Given the description of an element on the screen output the (x, y) to click on. 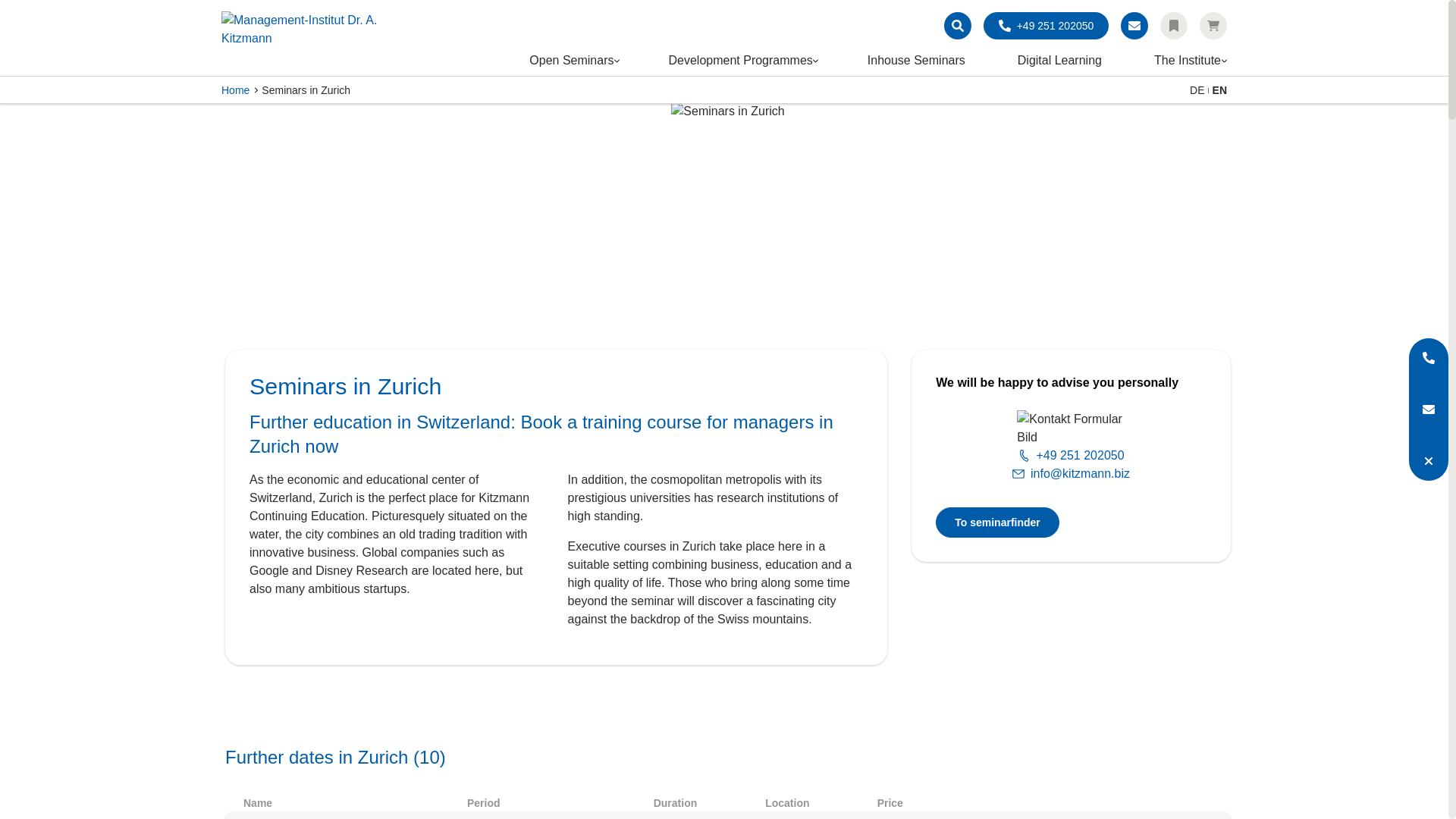
Kontakt aufnehmen (1134, 25)
Zum Merkzettel (1174, 25)
Kontakt Telefonnummer (1046, 25)
Zur Startseite (304, 37)
Zum Warenkorb (1213, 25)
